Given the description of an element on the screen output the (x, y) to click on. 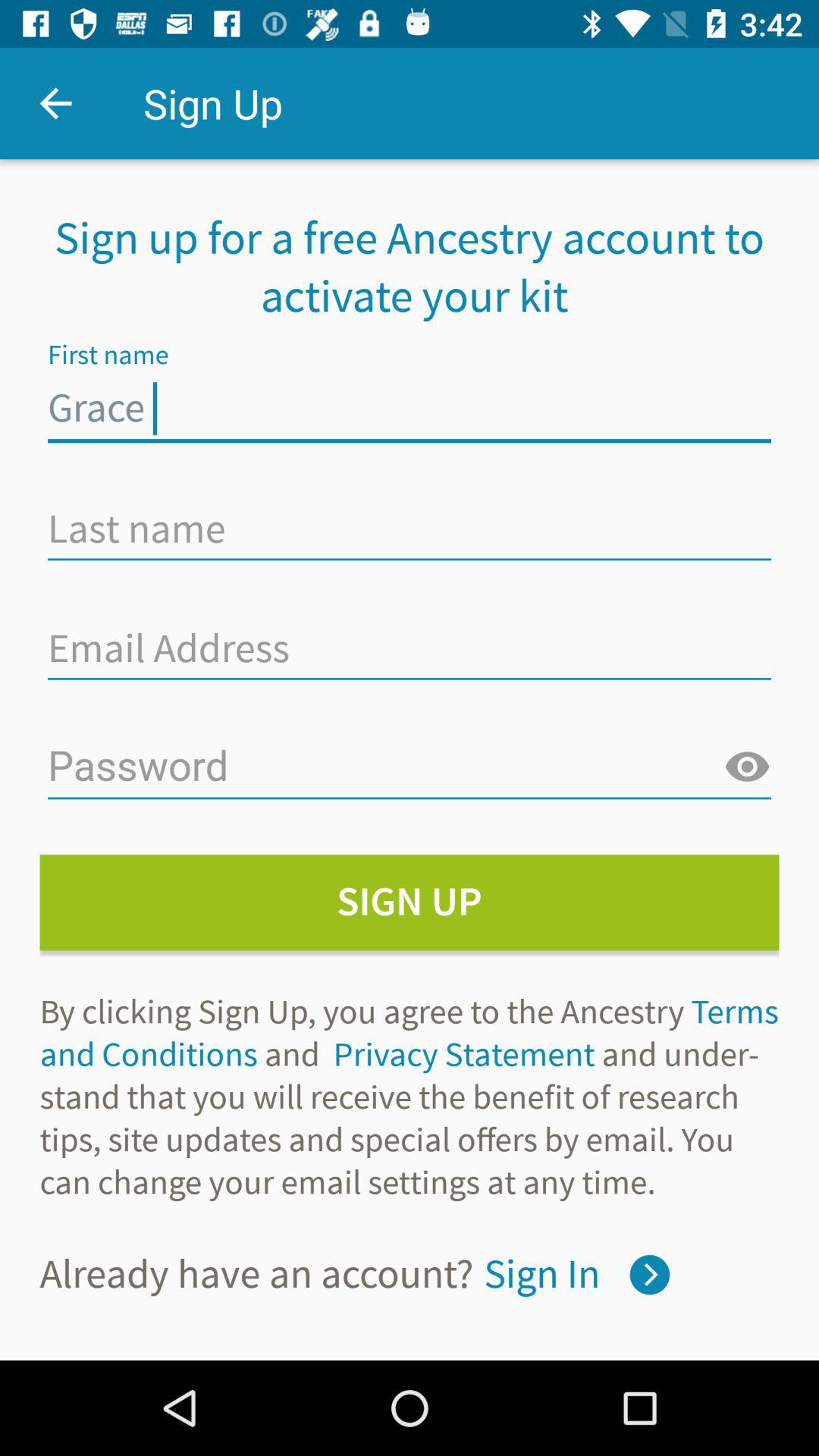
insert email (409, 648)
